Given the description of an element on the screen output the (x, y) to click on. 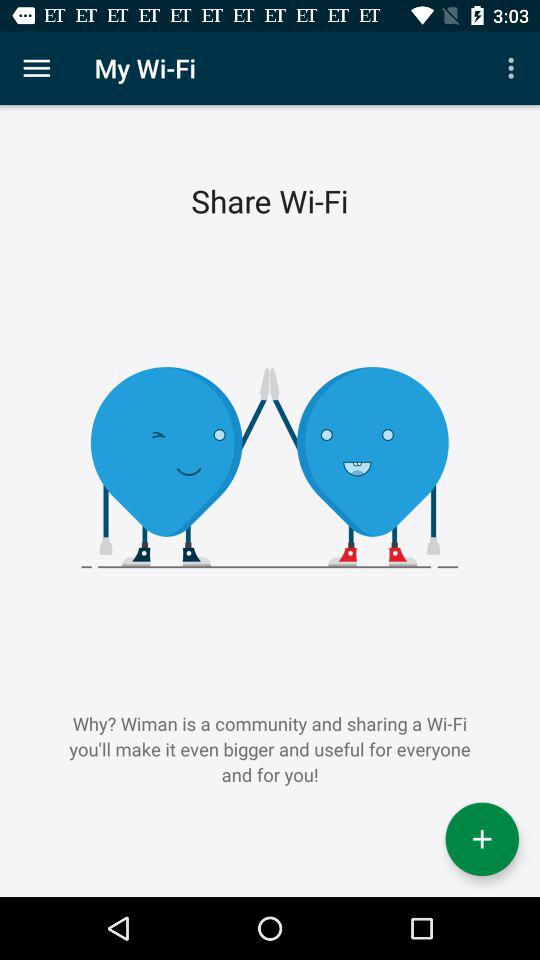
add wifi connection (482, 839)
